Given the description of an element on the screen output the (x, y) to click on. 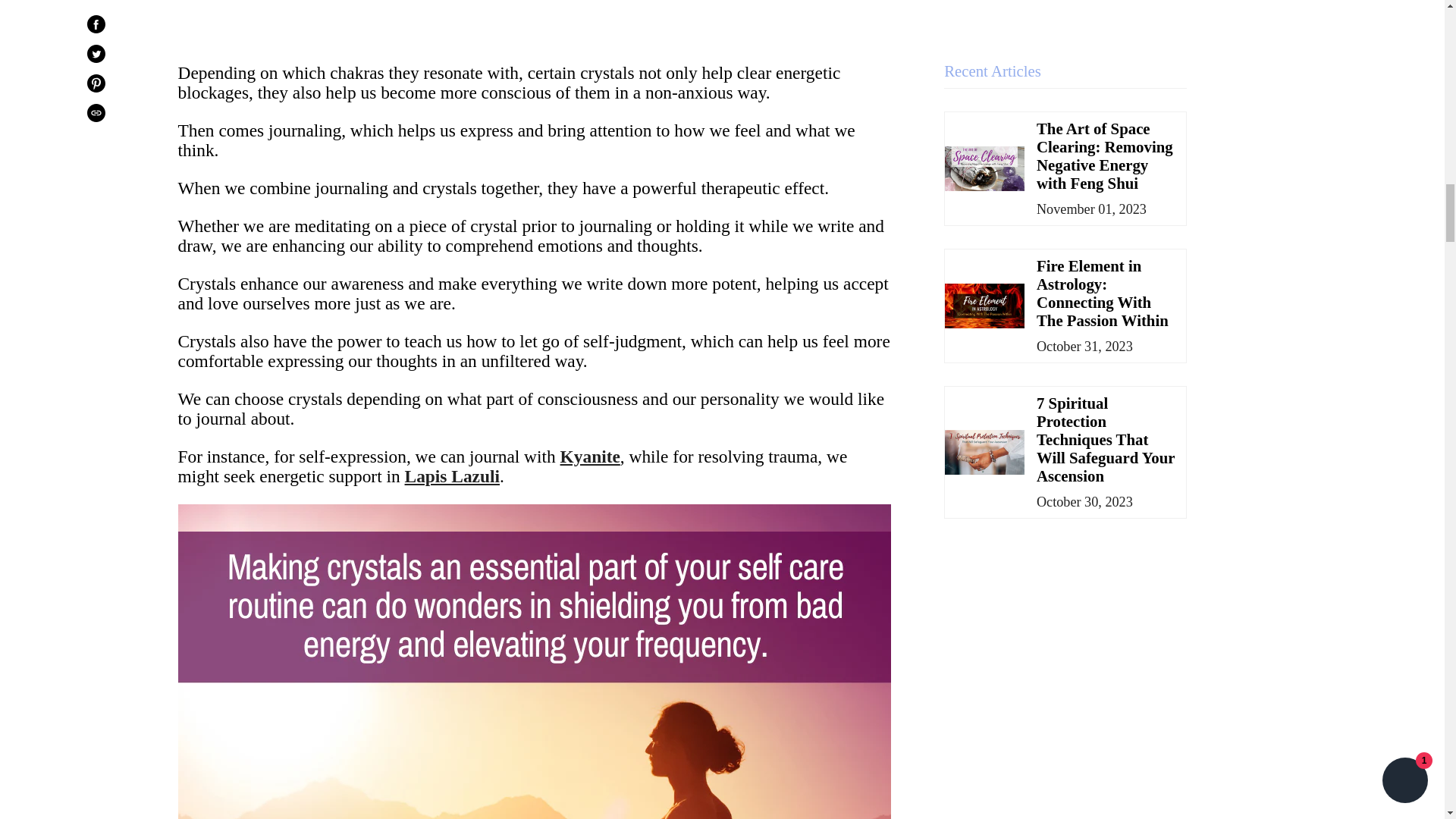
Kyanite (590, 456)
Lapis Lazuli (451, 476)
